Given the description of an element on the screen output the (x, y) to click on. 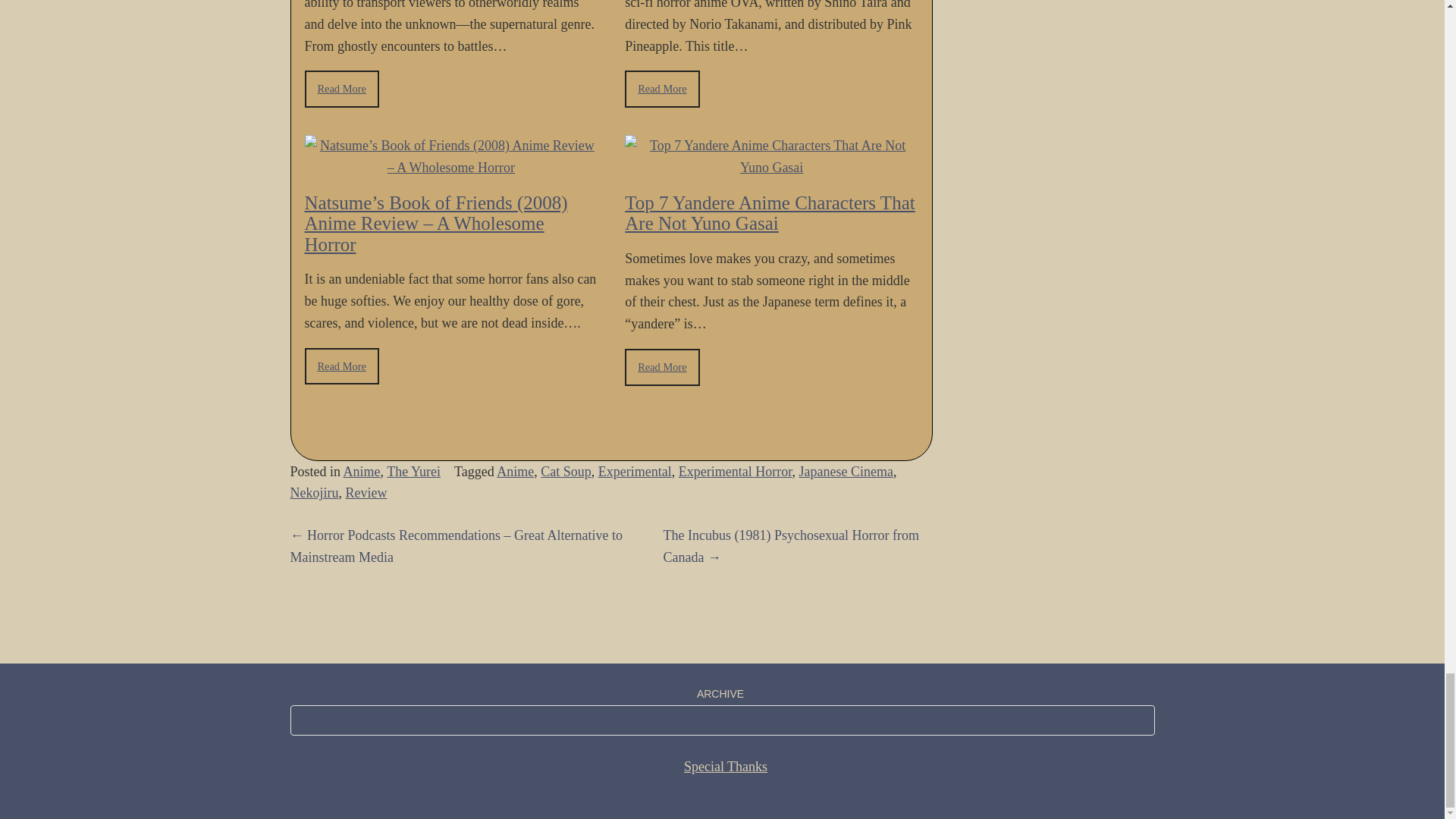
Cat Soup (565, 471)
Anime (515, 471)
Read More (341, 366)
Top 7 Yandere Anime Characters That Are Not Yuno Gasai (769, 213)
Read More (661, 366)
The Yurei (414, 471)
Anime (361, 471)
Read More (661, 88)
Read More (341, 88)
Experimental (634, 471)
